Given the description of an element on the screen output the (x, y) to click on. 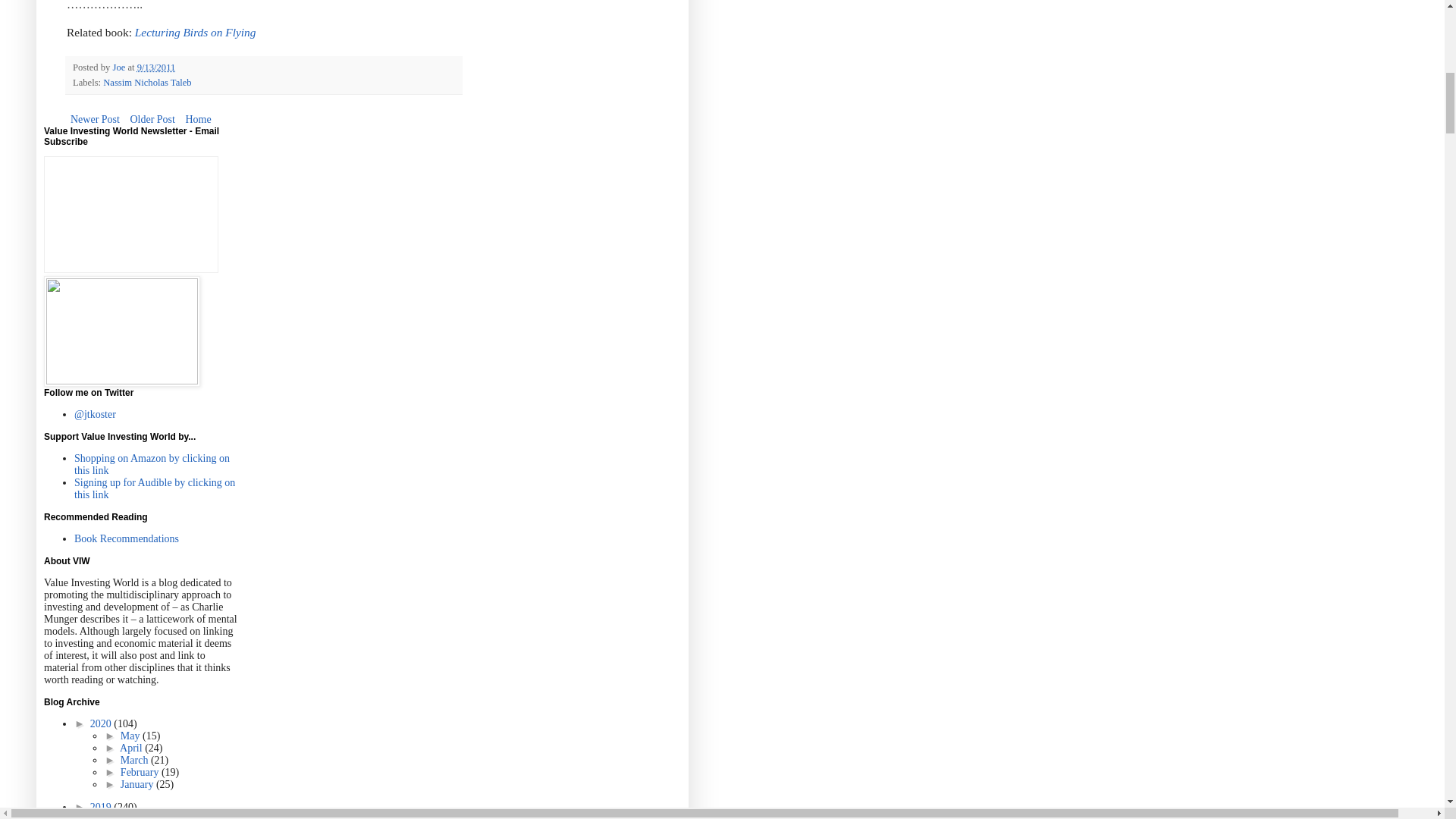
March (135, 759)
Nassim Nicholas Taleb (146, 81)
Lecturing Birds on Flying (195, 31)
2020 (102, 723)
Book Recommendations (126, 538)
Newer Post (94, 118)
permanent link (156, 67)
May (131, 736)
author profile (120, 67)
Older Post (152, 118)
Signing up for Audible by clicking on this link (154, 488)
Older Post (152, 118)
2019 (102, 807)
Joe (120, 67)
January (137, 784)
